Given the description of an element on the screen output the (x, y) to click on. 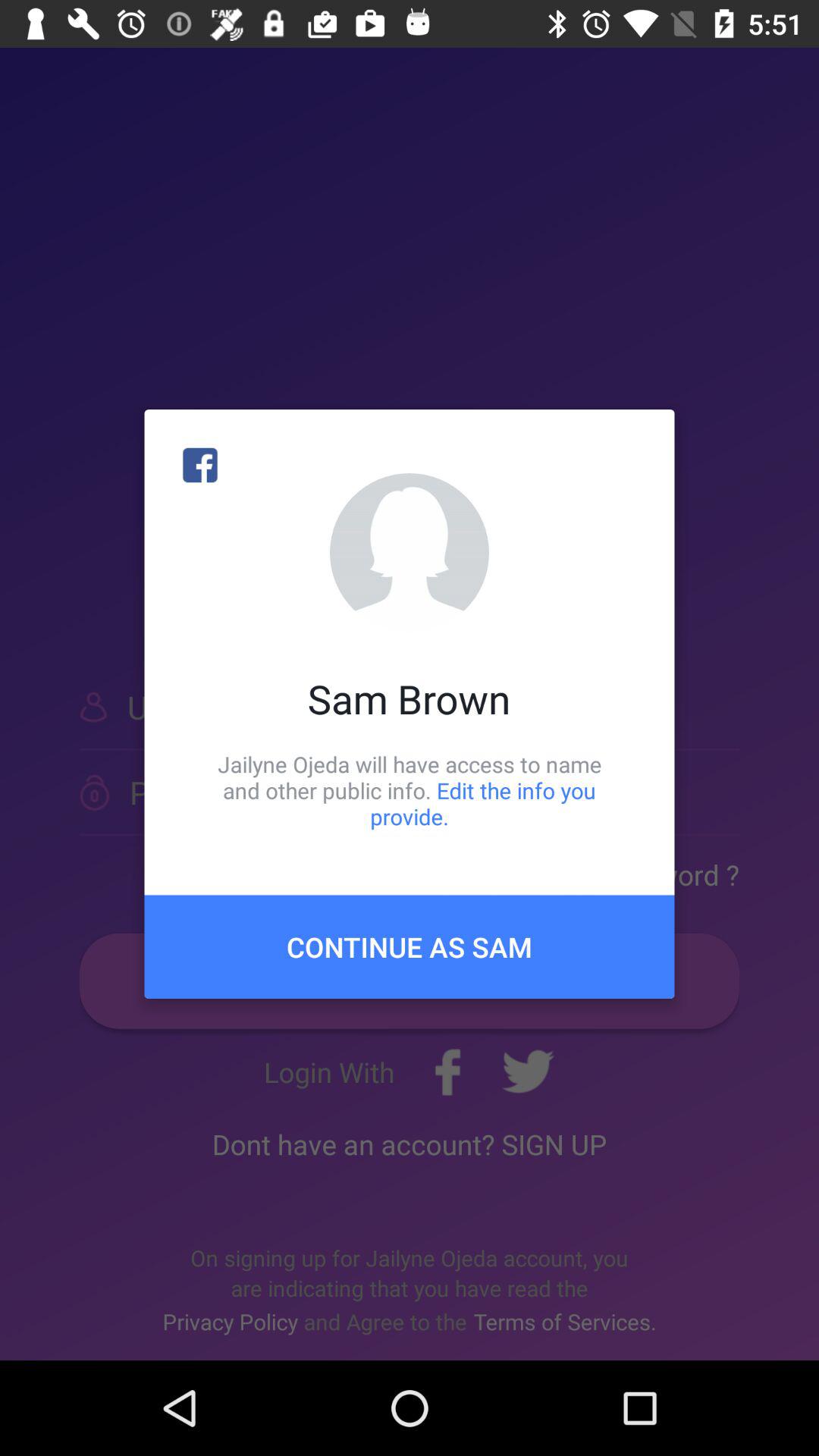
launch the item below sam brown item (409, 790)
